Given the description of an element on the screen output the (x, y) to click on. 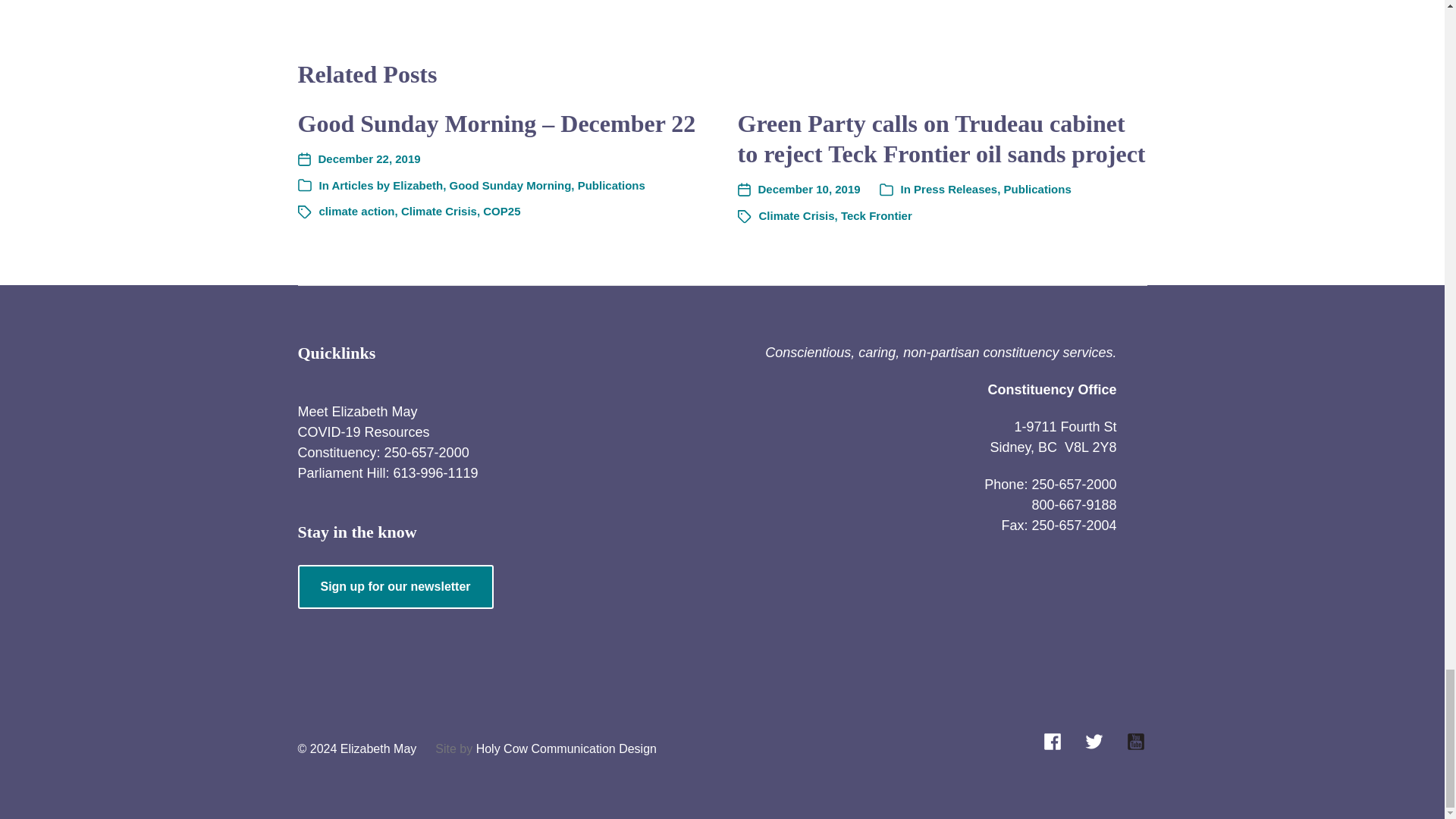
newsletter sign up link (395, 587)
